Given the description of an element on the screen output the (x, y) to click on. 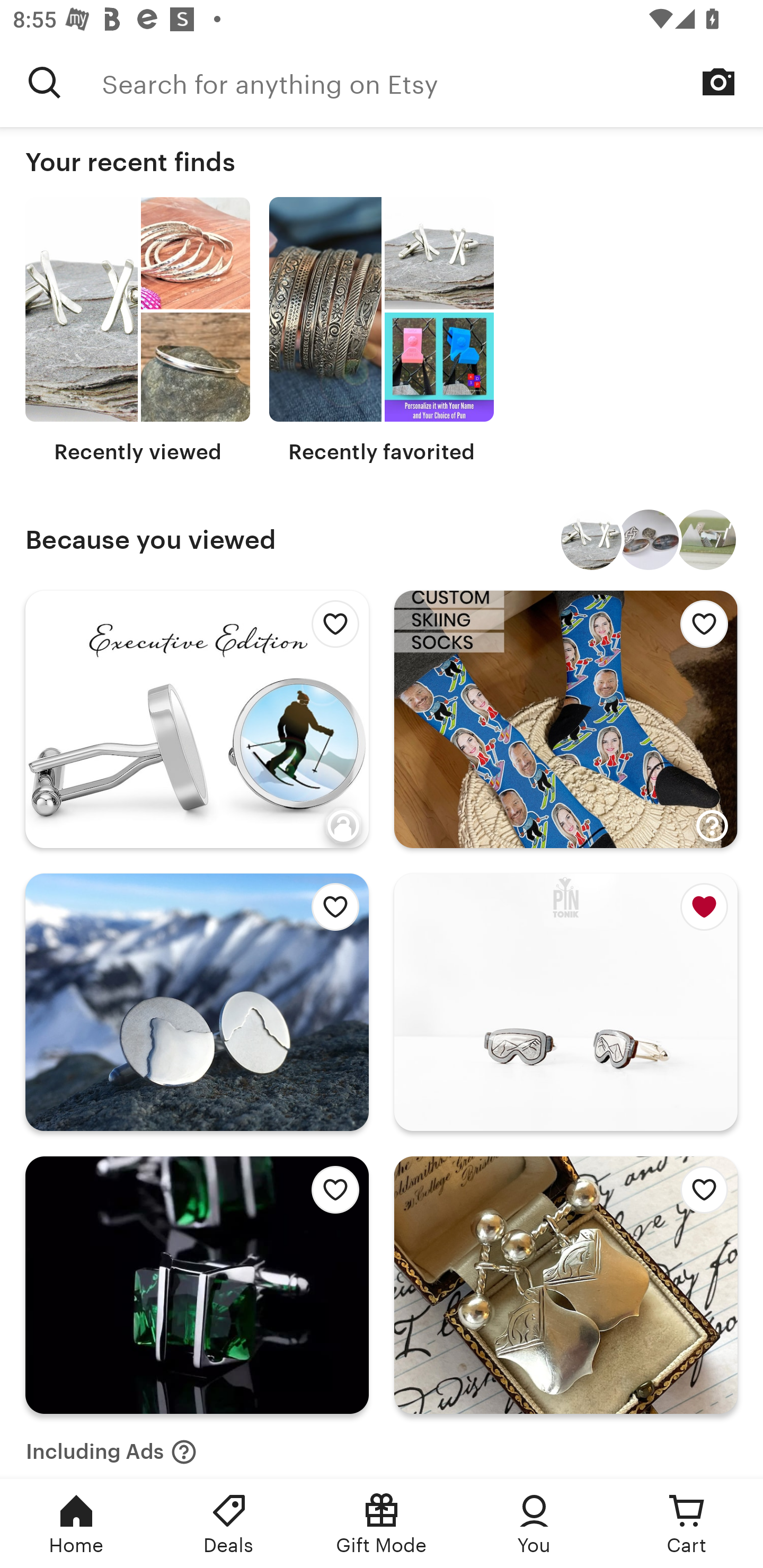
Search for anything on Etsy (44, 82)
Search by image (718, 81)
Search for anything on Etsy (432, 82)
Recently viewed (137, 330)
Recently favorited (381, 330)
Personalised Ski Skiing Silver Cufflinks (591, 539)
Including Ads (111, 1446)
Deals (228, 1523)
Gift Mode (381, 1523)
You (533, 1523)
Cart (686, 1523)
